Given the description of an element on the screen output the (x, y) to click on. 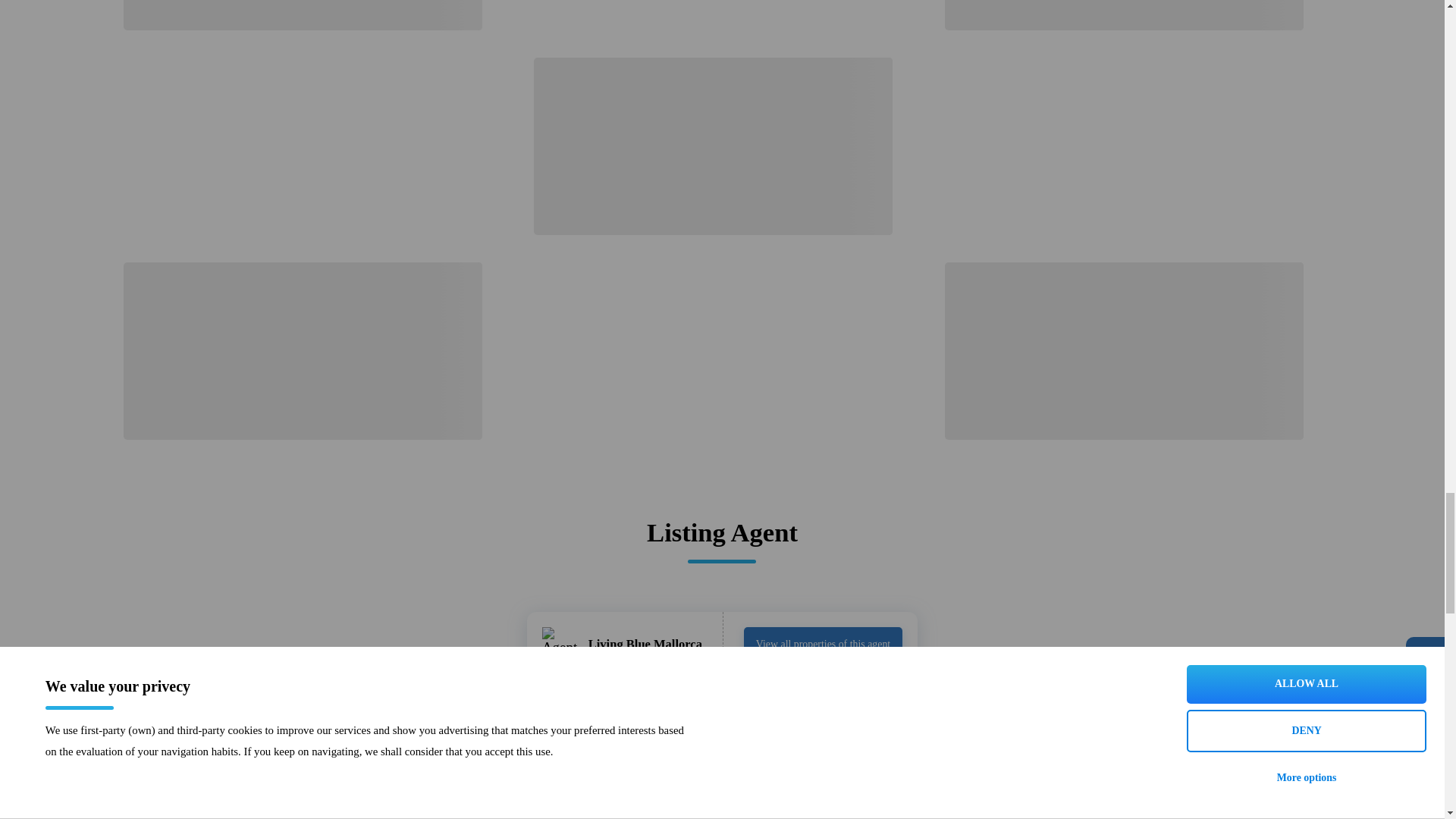
View all properties of this agent (823, 645)
View all properties of this agent (823, 642)
